Given the description of an element on the screen output the (x, y) to click on. 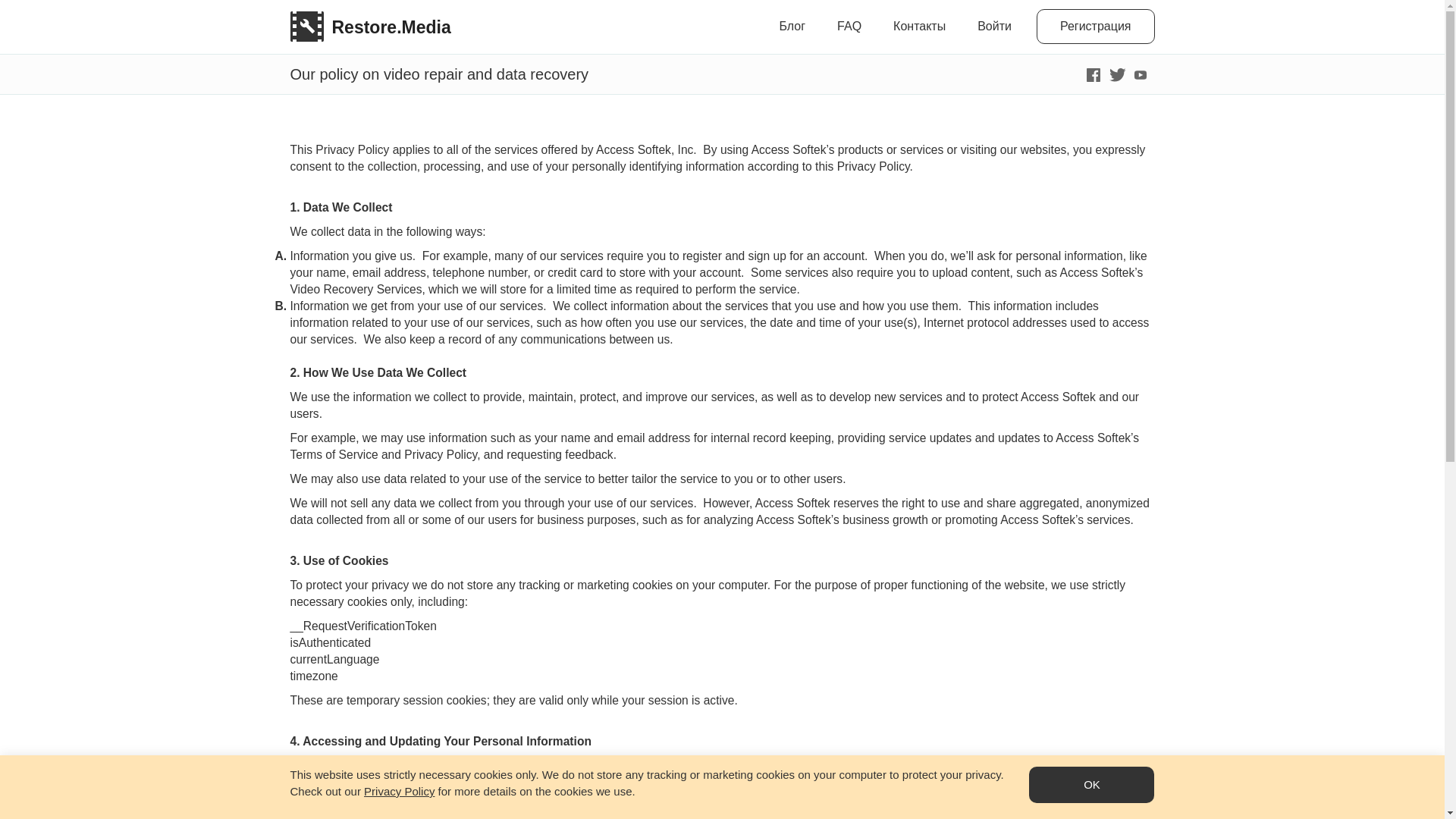
YouTube (1139, 73)
FAQ (848, 26)
Facebook (1092, 73)
OK (1091, 784)
Twitter (1116, 73)
Restore.Media (365, 14)
Restore.Media (365, 14)
Privacy Policy (398, 790)
